Given the description of an element on the screen output the (x, y) to click on. 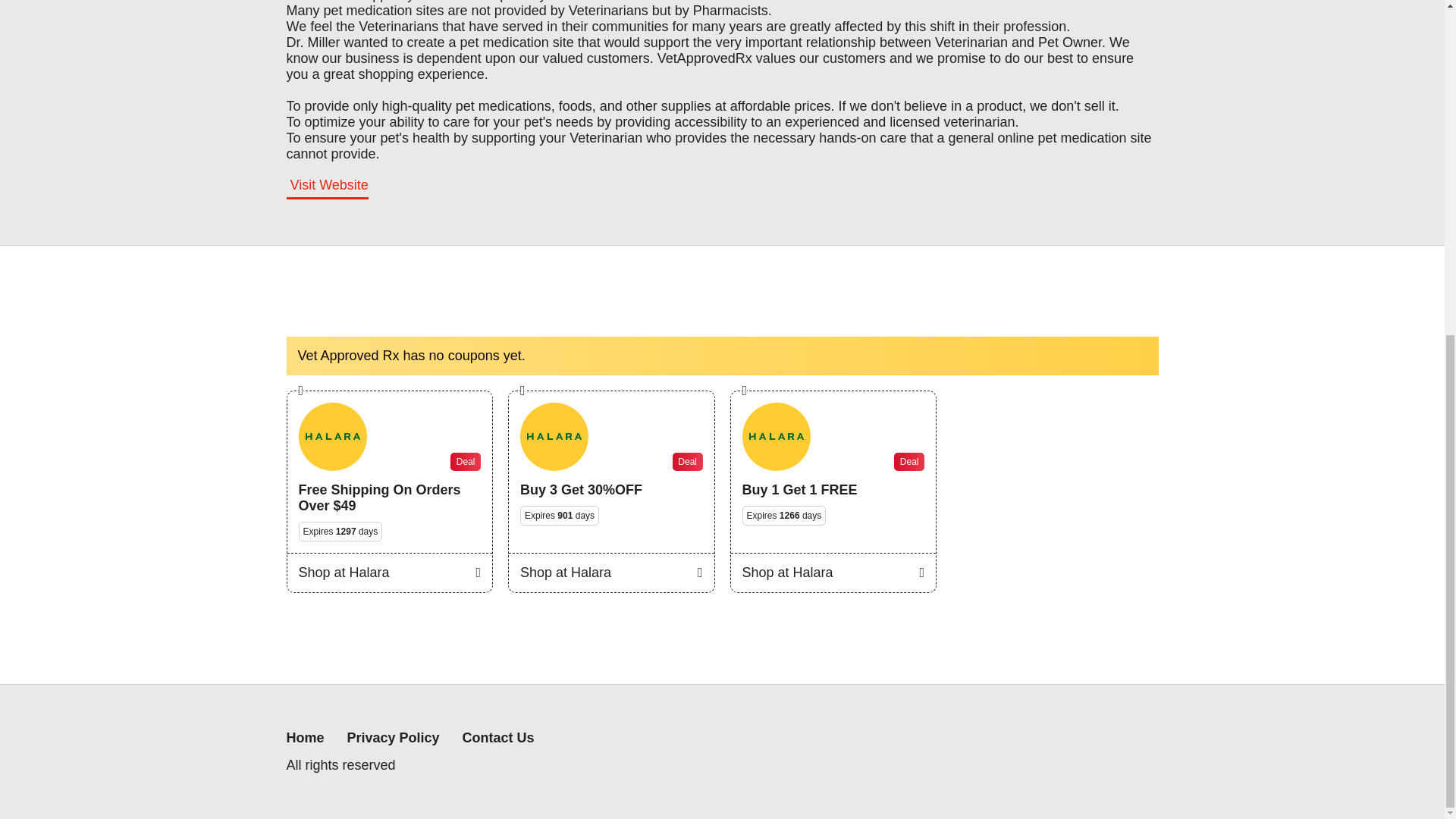
Shop at Halara (389, 572)
Buy 1 Get 1 FREE (799, 489)
Shop at Halara (611, 572)
Privacy Policy (393, 738)
Shop at Halara (833, 572)
Visit Website (327, 187)
Home (305, 738)
